Given the description of an element on the screen output the (x, y) to click on. 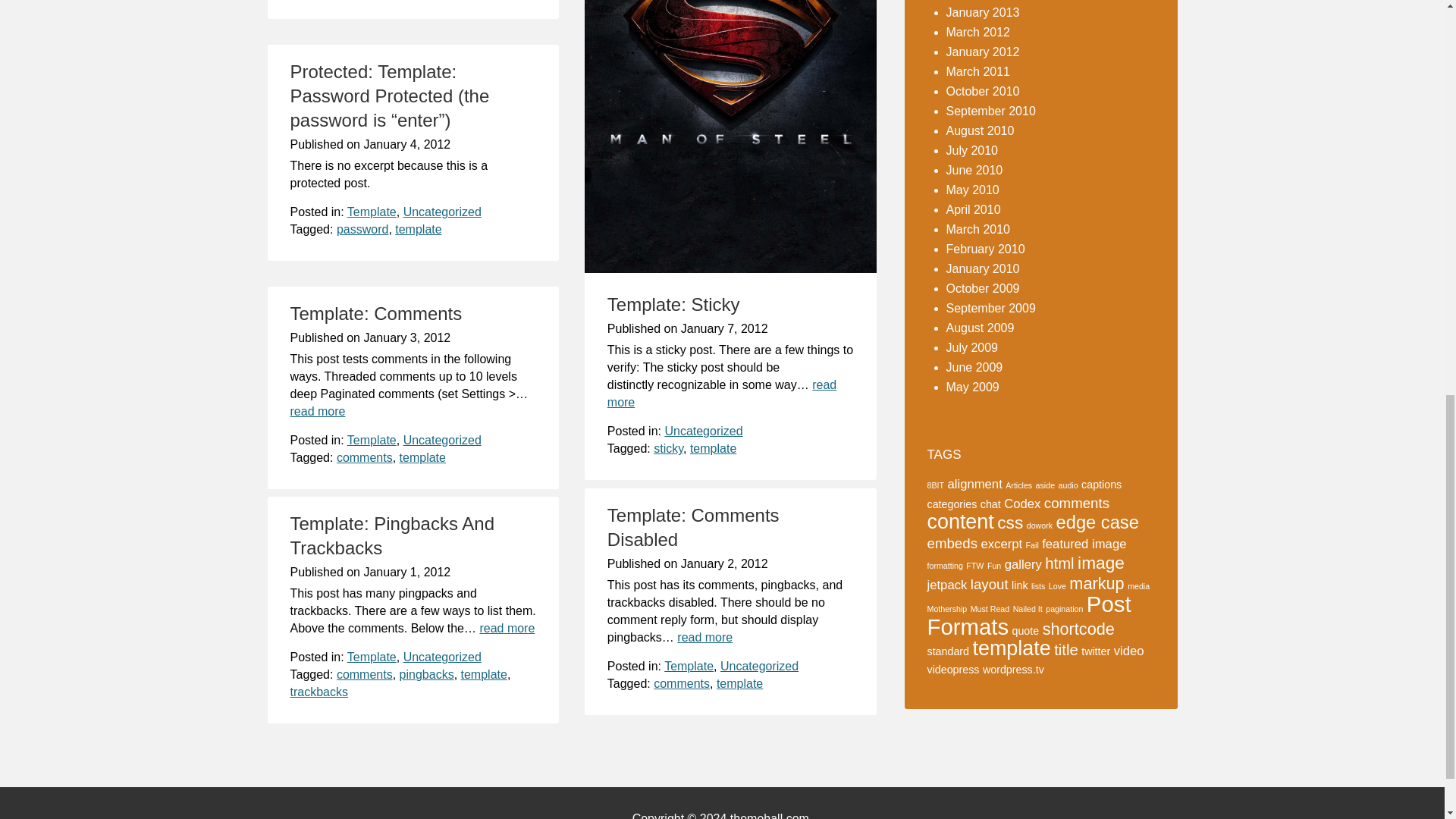
Tuesday, January 3rd, 2012, 10:11 am (405, 337)
Template (688, 666)
Sunday, January 1st, 2012, 10:17 am (405, 571)
Template (371, 440)
Wednesday, January 4th, 2012, 9:38 am (405, 144)
template (713, 448)
Template: Comments (375, 313)
Uncategorized (758, 666)
read more (721, 393)
Saturday, January 7th, 2012, 7:07 am (724, 328)
comments (681, 683)
password (362, 228)
Uncategorized (702, 431)
Template: Comments Disabled (692, 527)
Monday, January 2nd, 2012, 10:21 am (724, 563)
